Given the description of an element on the screen output the (x, y) to click on. 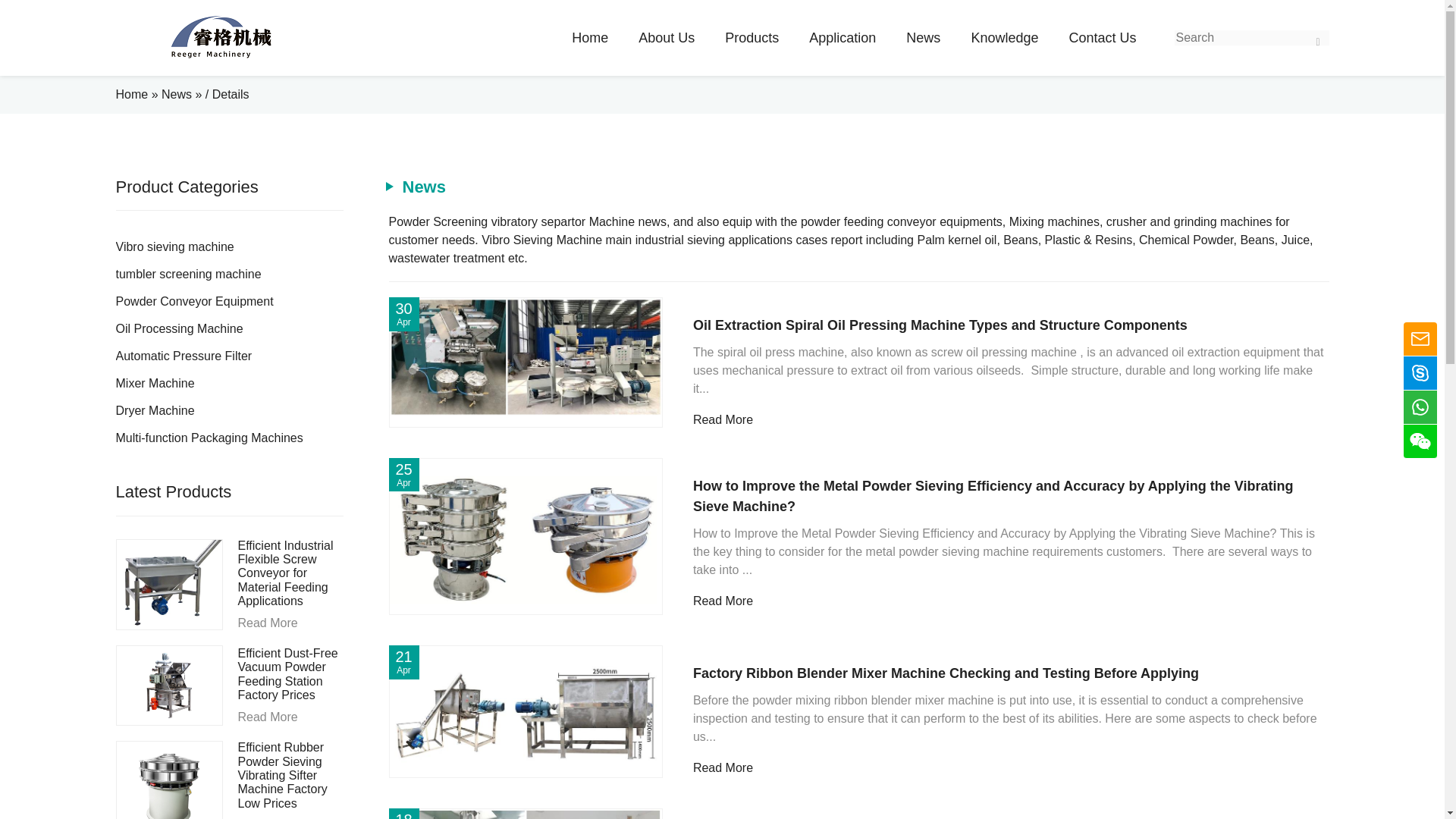
Contact Us (1101, 38)
Automatic Pressure Filter (228, 356)
Oil Processing Machine (228, 329)
Vibro sieving machine (228, 247)
Home (131, 93)
tumbler screening machine (228, 274)
News (176, 93)
Knowledge (1004, 38)
Powder Conveyor Equipment (228, 301)
Read More (290, 622)
Read More (290, 716)
Mixer Machine (228, 383)
